Given the description of an element on the screen output the (x, y) to click on. 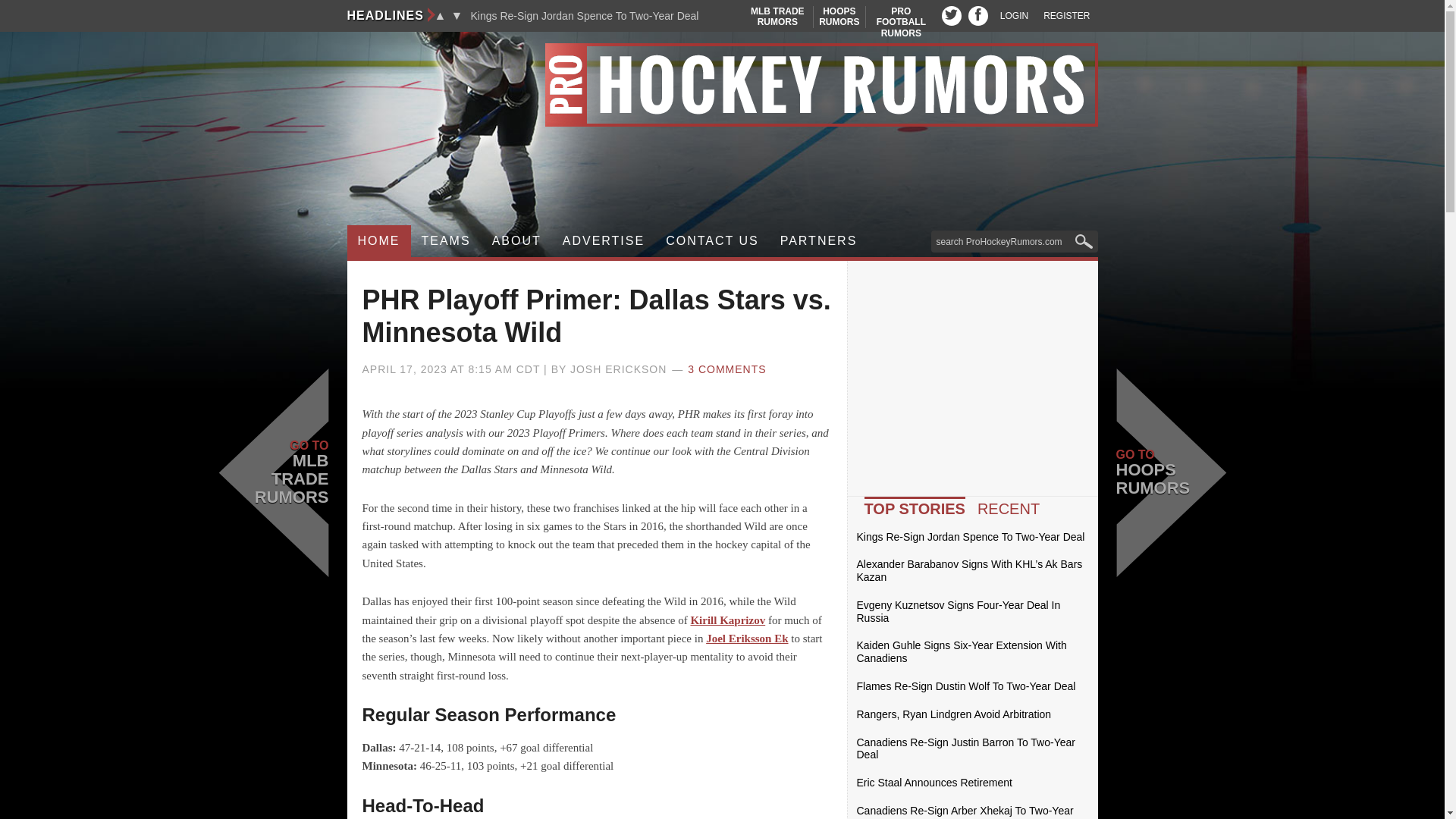
Pro Hockey Rumors (722, 84)
Search (777, 16)
Kings Re-Sign Jordan Spence To Two-Year Deal (1013, 15)
TEAMS (584, 15)
REGISTER (445, 241)
Twitter profile (1066, 15)
Previous (951, 15)
Next (838, 16)
HOME (439, 15)
FB profile (456, 15)
